Given the description of an element on the screen output the (x, y) to click on. 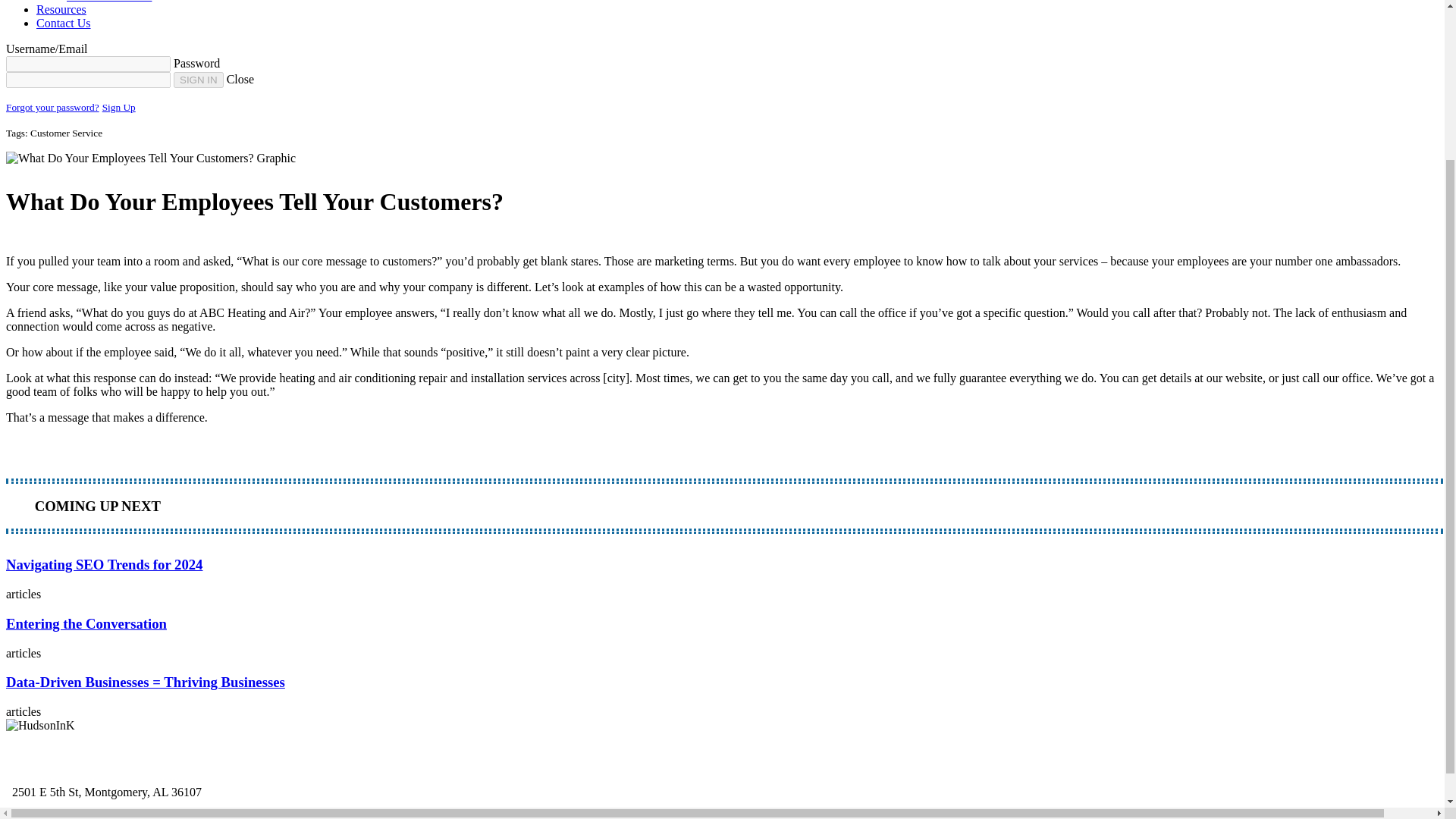
Sign Up (118, 107)
Entering the Conversation (721, 637)
SIGN IN (198, 79)
Forgot your password? (52, 107)
Navigating SEO Trends for 2024 (721, 578)
Resources (60, 9)
Contact Us (63, 22)
Creative Services (108, 1)
SIGN IN (198, 79)
